Given the description of an element on the screen output the (x, y) to click on. 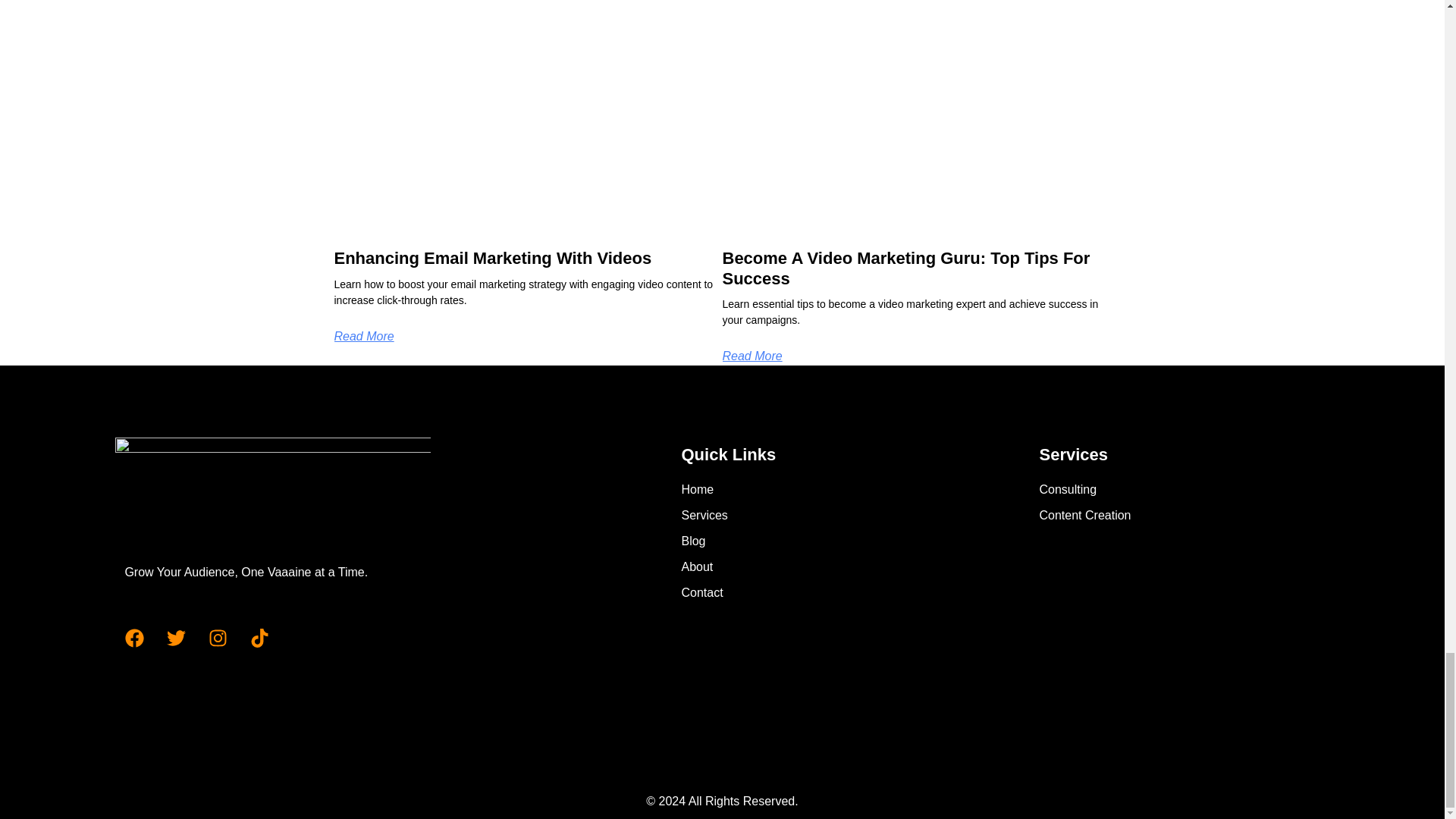
Blog (776, 541)
Services (776, 515)
Become A Video Marketing Guru: Top Tips For Success (905, 267)
About (776, 566)
Read More (363, 336)
Contact (776, 592)
Read More (751, 355)
Home (776, 489)
Enhancing Email Marketing With Videos (491, 257)
